Given the description of an element on the screen output the (x, y) to click on. 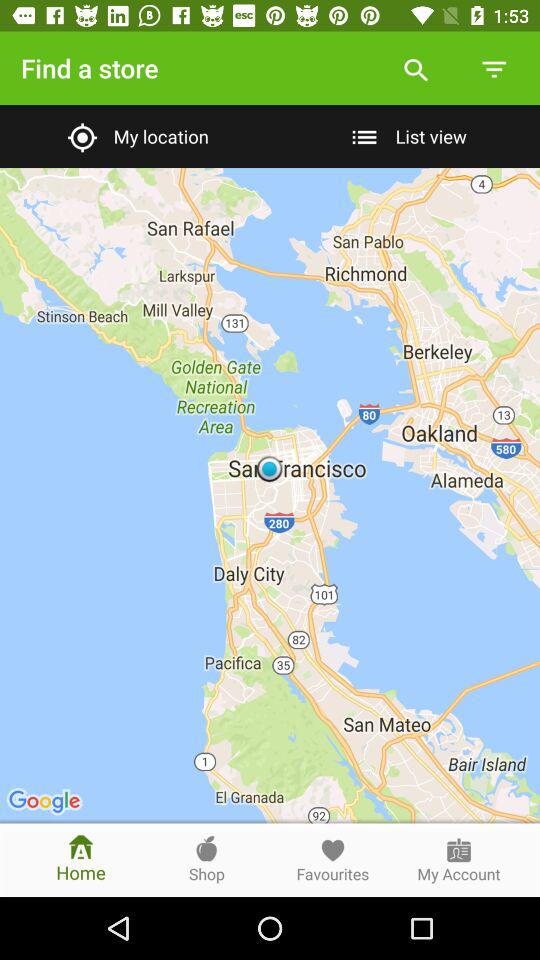
turn off list view icon (404, 136)
